Given the description of an element on the screen output the (x, y) to click on. 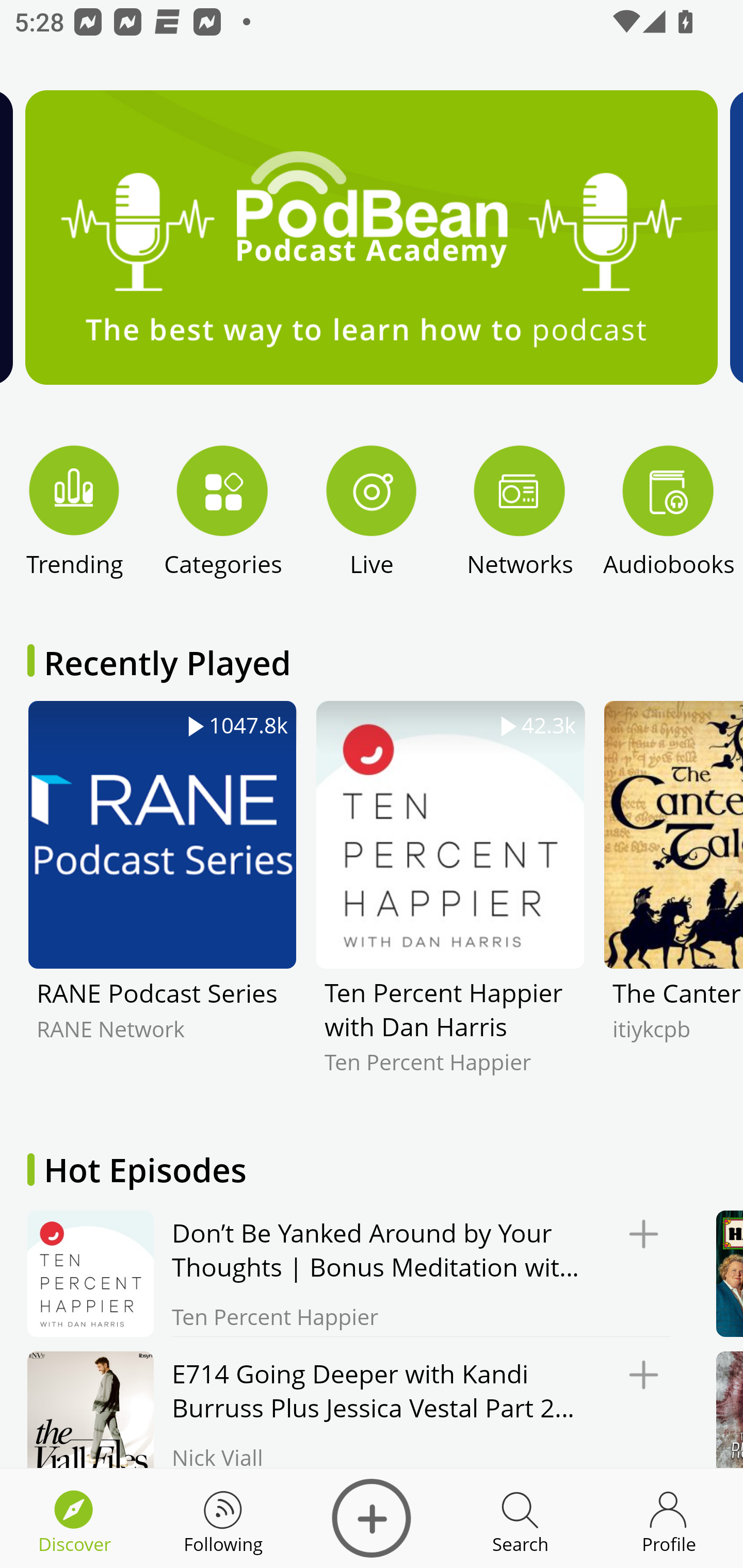
1047.8k RANE Podcast Series RANE Network (162, 902)
The Canterbury Tales itiykcpb (673, 902)
Discover Following (222, 1518)
Discover (371, 1518)
Discover Search (519, 1518)
Discover Profile (668, 1518)
